Given the description of an element on the screen output the (x, y) to click on. 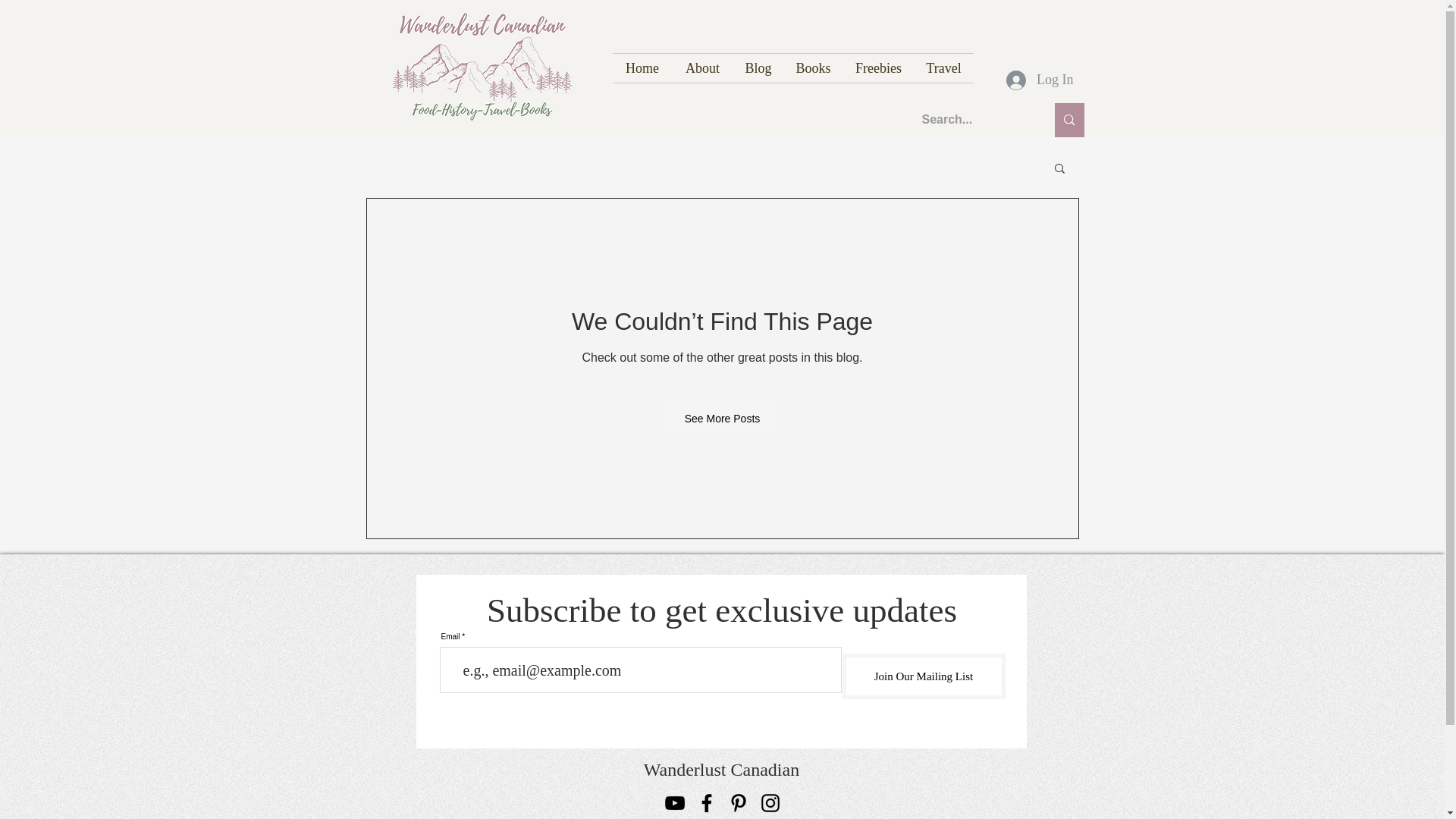
Books (813, 68)
Join Our Mailing List (922, 676)
Home (642, 68)
Blog (757, 68)
Log In (1039, 80)
About (701, 68)
Travel (944, 68)
See More Posts (722, 418)
Freebies (878, 68)
